Given the description of an element on the screen output the (x, y) to click on. 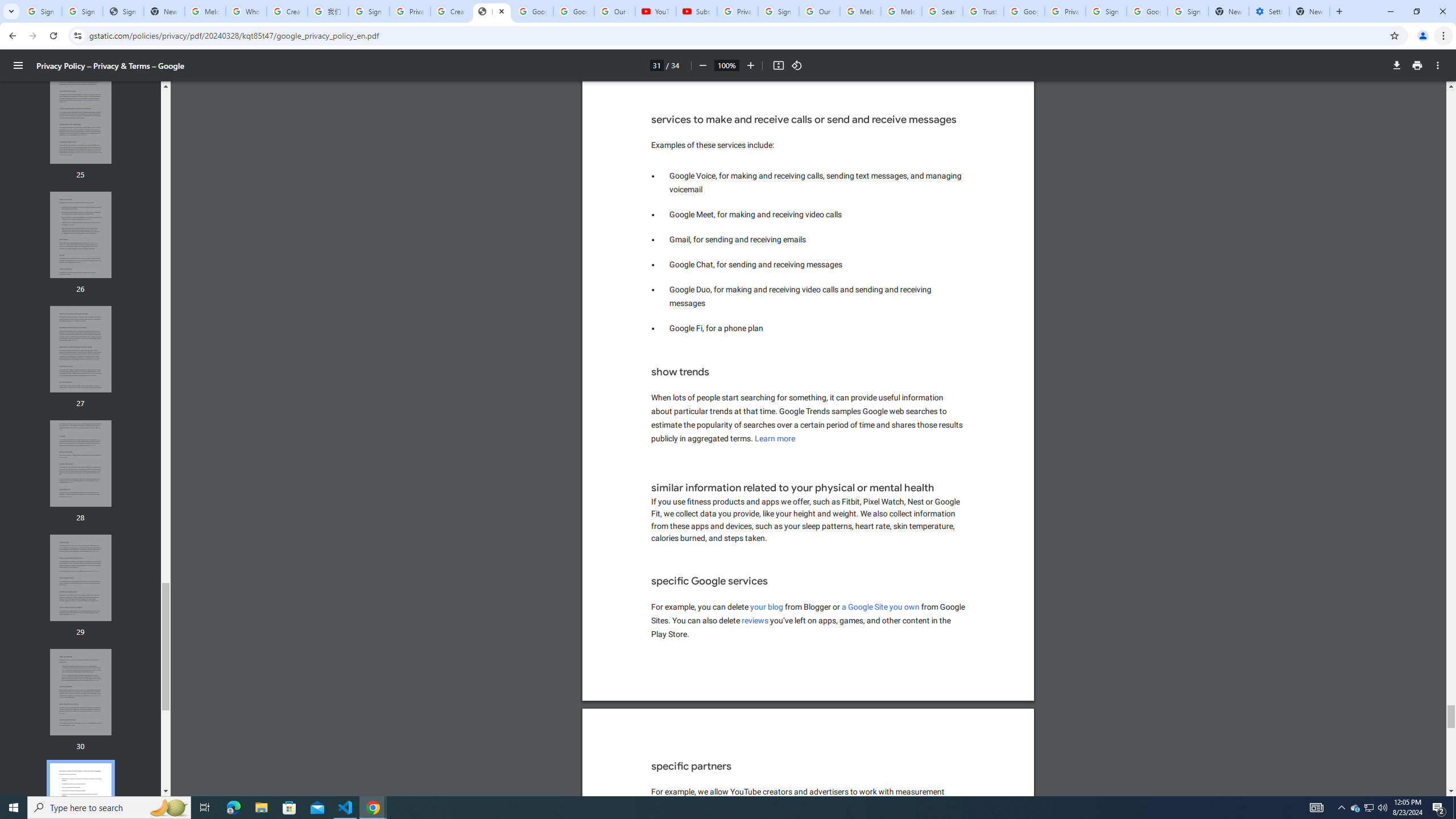
Google Ads - Sign in (1023, 11)
Create your Google Account (287, 11)
New Tab (1309, 11)
Sign in - Google Accounts (777, 11)
Menu (17, 65)
Fit to page (777, 65)
Thumbnail for page 28 (80, 463)
